Given the description of an element on the screen output the (x, y) to click on. 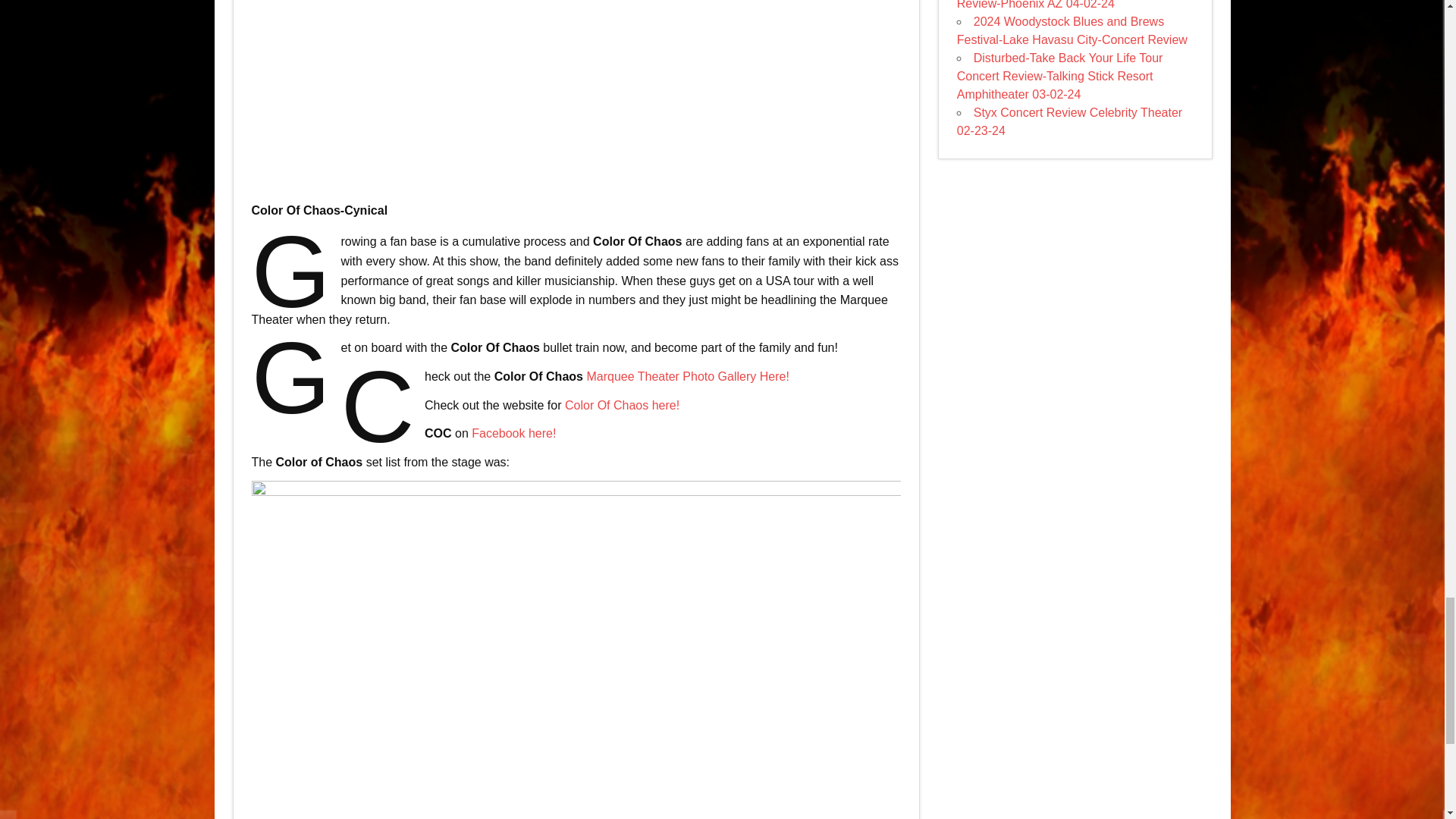
Cynical (576, 94)
